Given the description of an element on the screen output the (x, y) to click on. 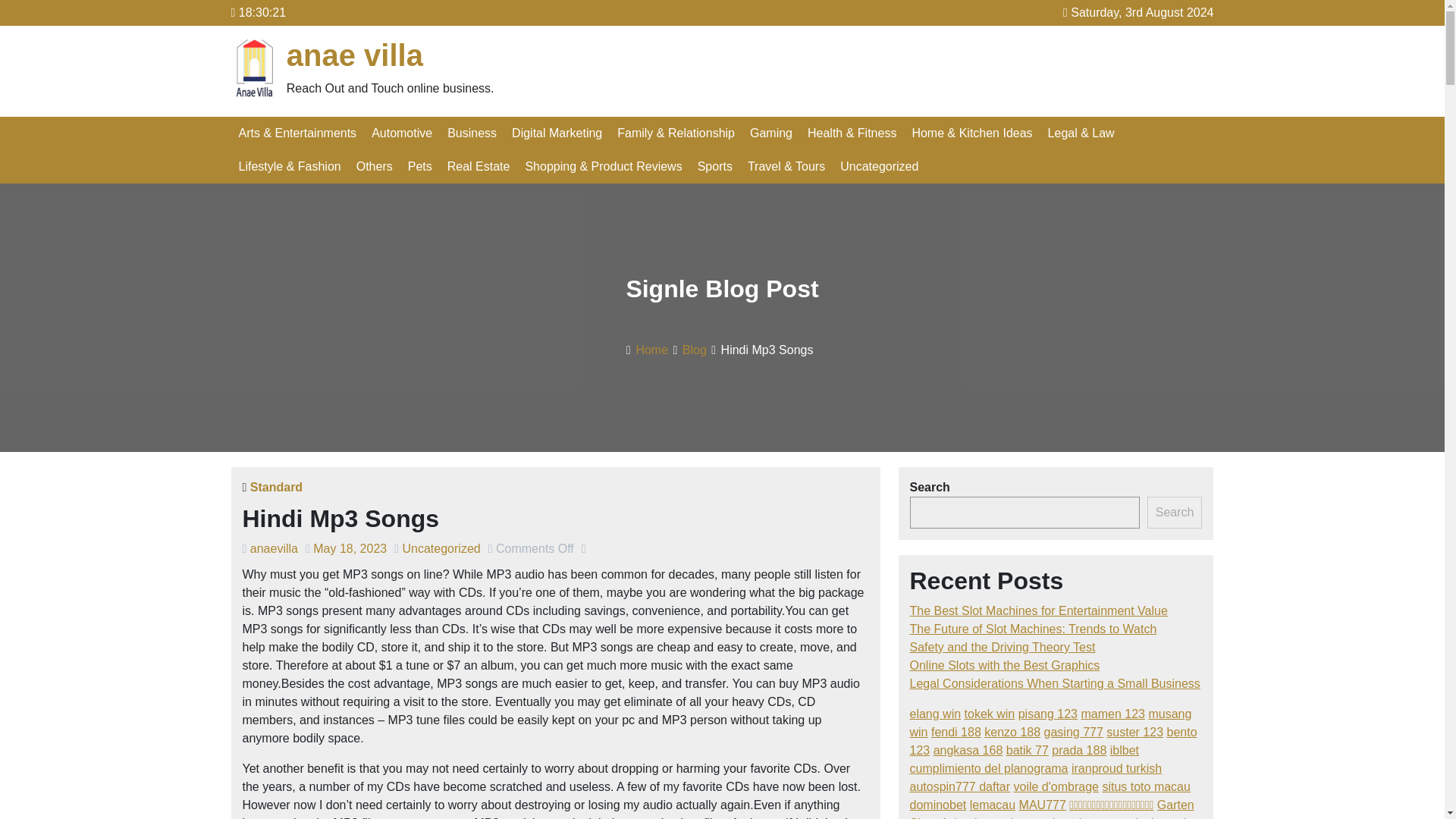
mamen 123 (1112, 713)
anae villa (354, 55)
elang win (935, 713)
Safety and the Driving Theory Test (1003, 646)
kenzo 188 (1012, 731)
fendi 188 (956, 731)
Legal Considerations When Starting a Small Business (1054, 683)
anaevilla (274, 548)
Blog (694, 349)
musang win (1051, 722)
Uncategorized (879, 166)
Online Slots with the Best Graphics (1005, 665)
Automotive (401, 133)
Digital Marketing (556, 133)
Search (1174, 512)
